Given the description of an element on the screen output the (x, y) to click on. 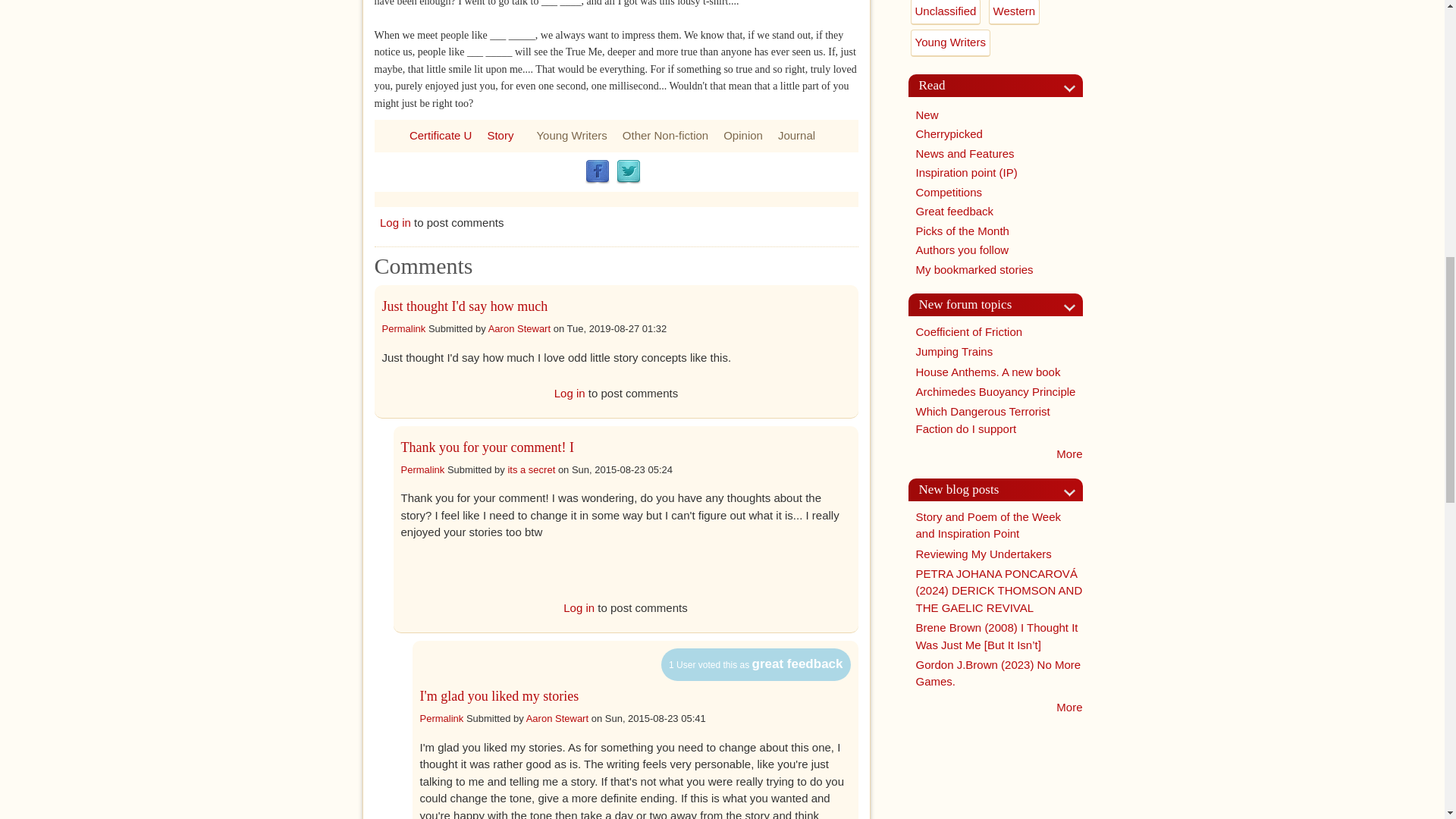
Twitter (627, 170)
Permalink (442, 717)
Twitter (627, 170)
Thank you for your comment! I (486, 447)
Opinion (742, 134)
Permalink (403, 328)
Journal (796, 134)
Permalink (422, 469)
Certificate U (440, 134)
View user profile. (530, 469)
